Given the description of an element on the screen output the (x, y) to click on. 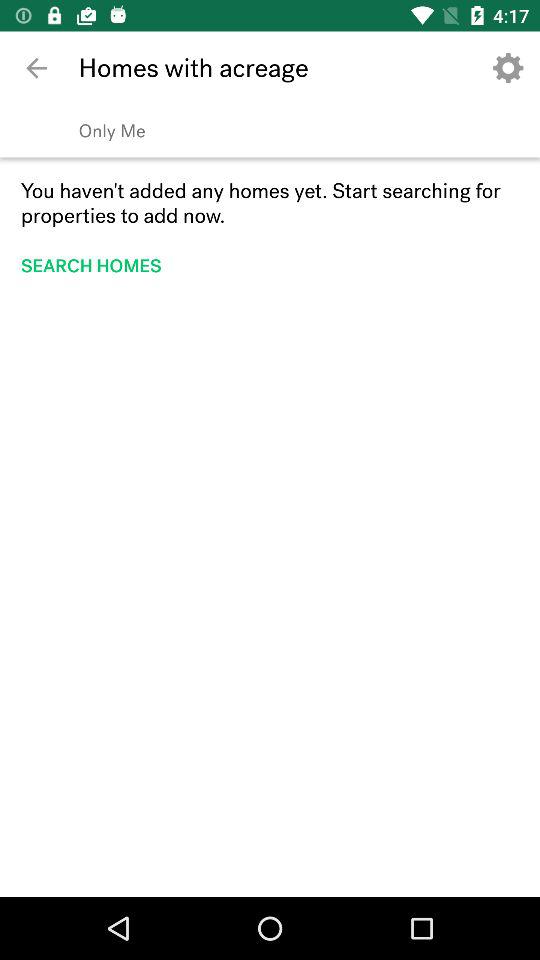
launch the item above the only me (508, 67)
